Given the description of an element on the screen output the (x, y) to click on. 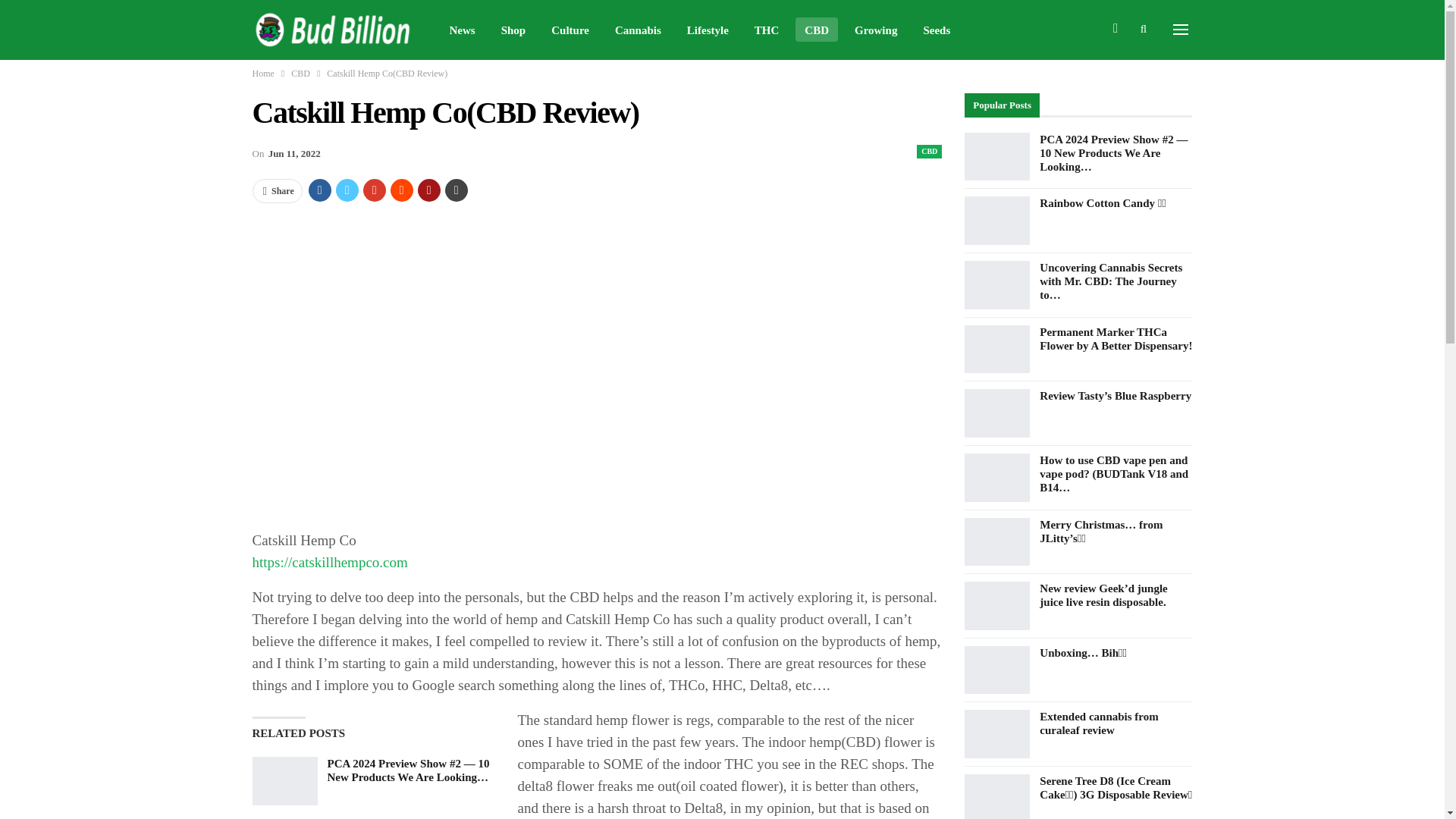
Growing (875, 29)
CBD (816, 29)
Seeds (936, 29)
CBD (929, 151)
Lifestyle (708, 29)
CBD (300, 73)
News (461, 29)
Home (262, 73)
THC (767, 29)
Shop (513, 29)
